Given the description of an element on the screen output the (x, y) to click on. 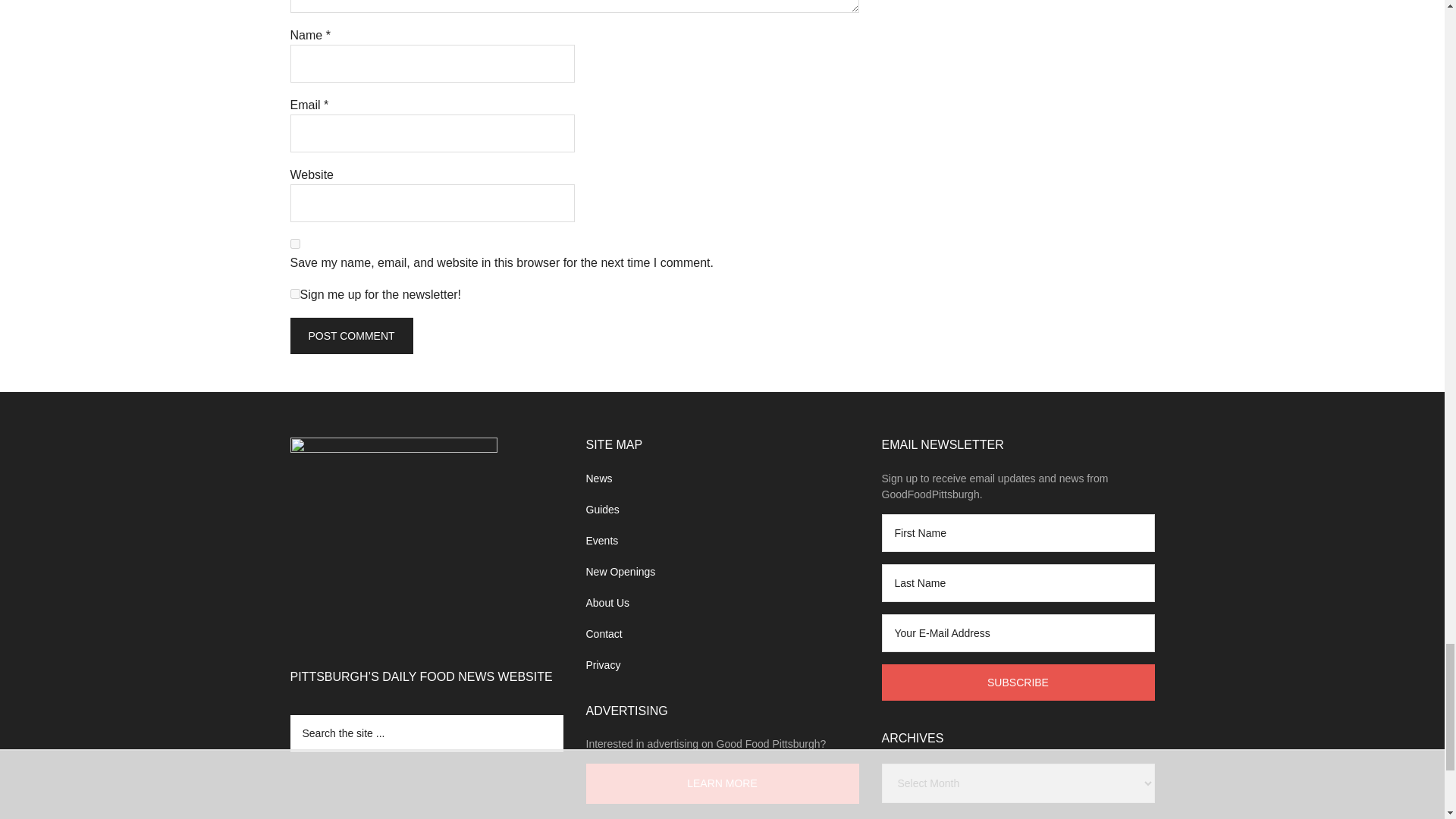
Subscribe (1017, 682)
1 (294, 293)
Post Comment (350, 335)
Post Comment (350, 335)
yes (294, 243)
